Given the description of an element on the screen output the (x, y) to click on. 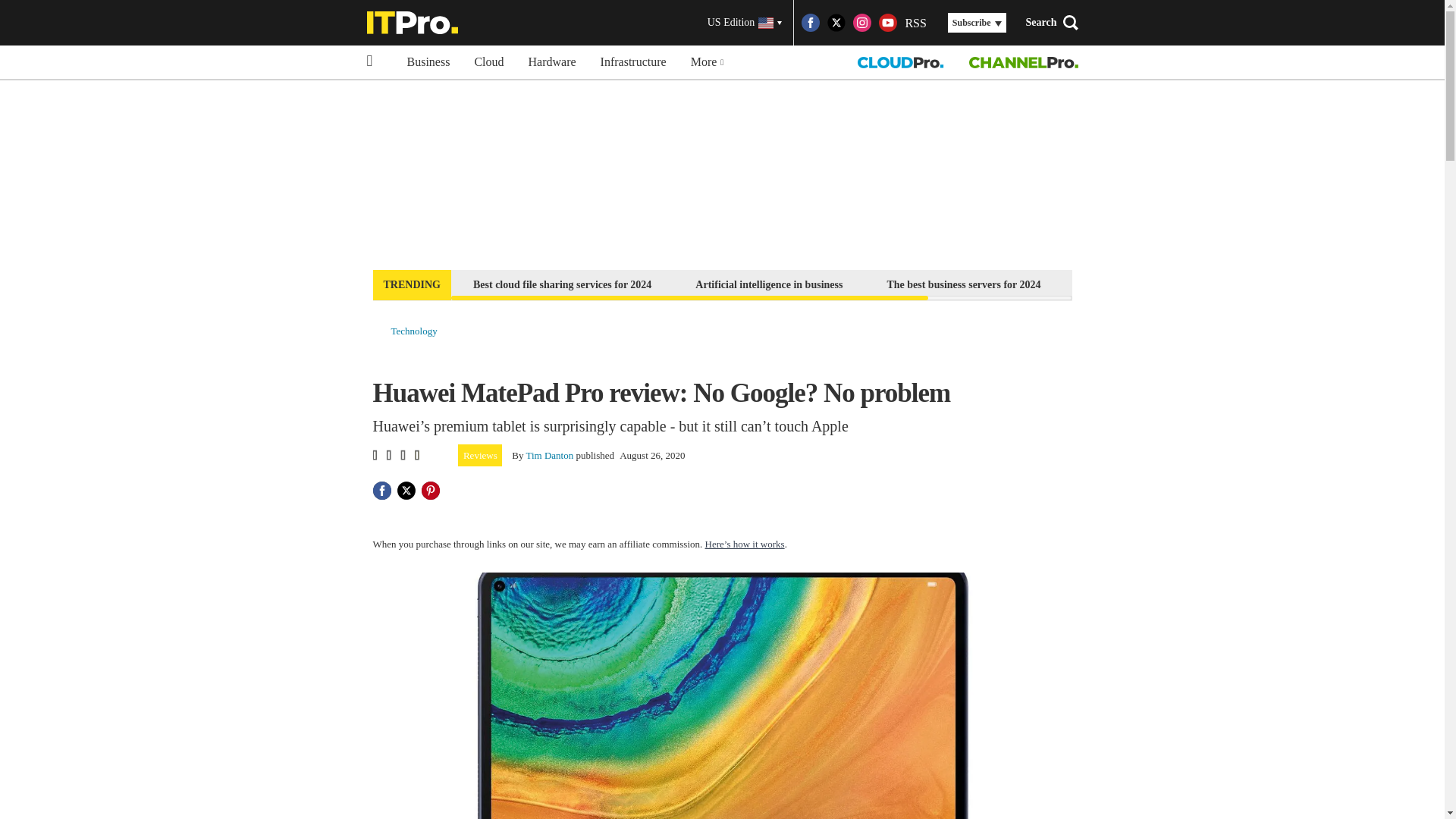
Infrastructure (633, 61)
Subscribe to the ITPro newsletter (1161, 284)
Reviews (480, 455)
Tim Danton (549, 455)
Artificial intelligence in business (768, 284)
Technology (414, 330)
Cloud (488, 61)
Hardware (552, 61)
Best cloud file sharing services for 2024 (561, 284)
RSS (915, 22)
